Given the description of an element on the screen output the (x, y) to click on. 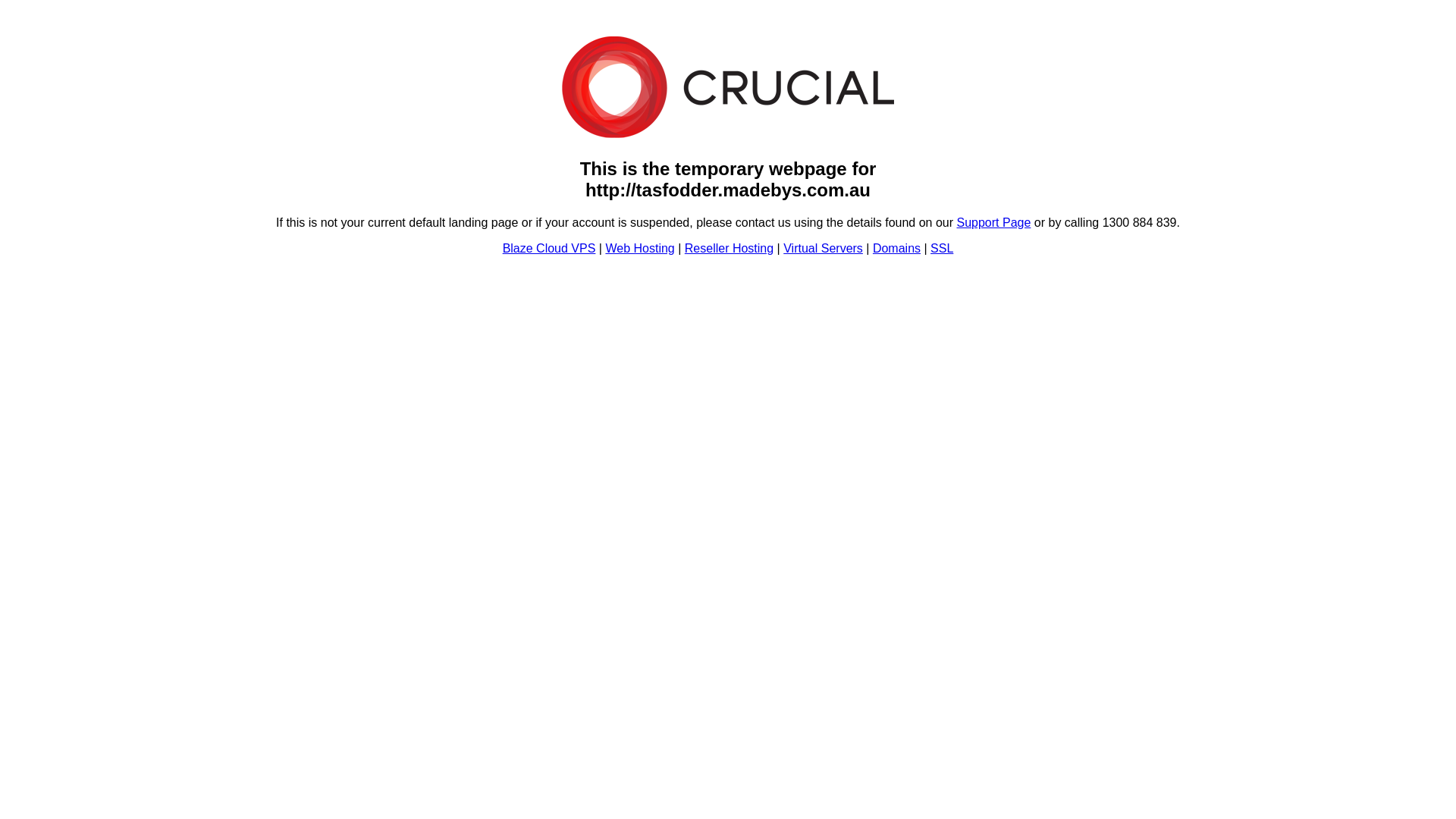
Domains Element type: text (896, 247)
SSL Element type: text (941, 247)
Web Hosting Element type: text (639, 247)
Support Page Element type: text (994, 222)
Blaze Cloud VPS Element type: text (549, 247)
Virtual Servers Element type: text (822, 247)
Reseller Hosting Element type: text (728, 247)
